Given the description of an element on the screen output the (x, y) to click on. 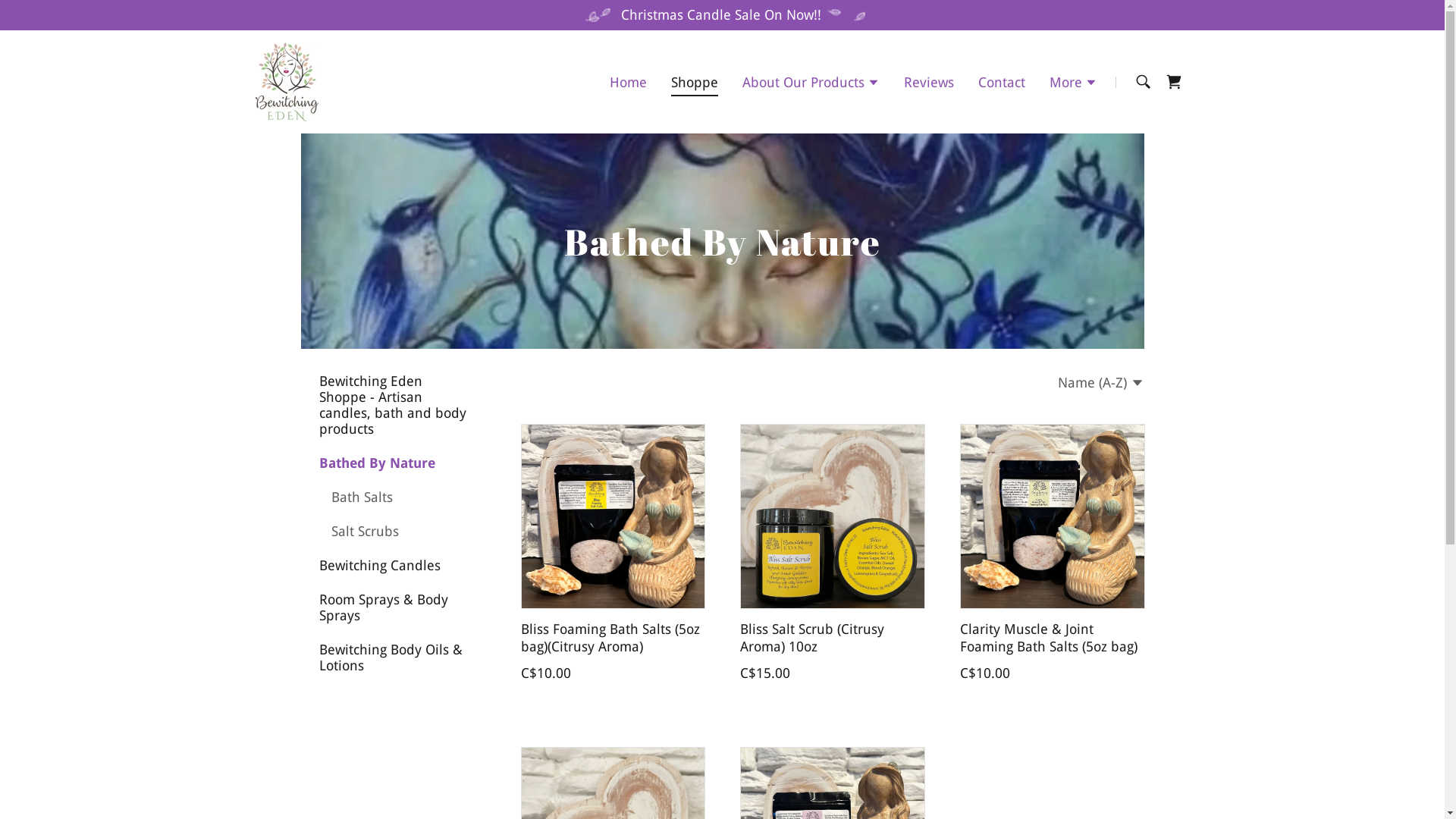
Bewitching Body Oils & Lotions Element type: text (391, 657)
Clarity Muscle & Joint Foaming Bath Salts (5oz bag)
C$10.00 Element type: text (1051, 554)
Bath Salts Element type: text (397, 497)
Home Element type: text (628, 81)
Shoppe Element type: text (694, 84)
Room Sprays & Body Sprays Element type: text (391, 607)
Bliss Salt Scrub (Citrusy Aroma) 10oz
C$15.00 Element type: text (831, 554)
Bewitching Candles Element type: text (391, 565)
Name (A-Z) Element type: text (1100, 381)
Bliss Foaming Bath Salts (5oz bag)(Citrusy Aroma)
C$10.00 Element type: text (611, 554)
Bewitching Eden  Element type: hover (285, 80)
Salt Scrubs Element type: text (397, 531)
Reviews Element type: text (928, 81)
About Our Products Element type: text (810, 83)
Bathed By Nature Element type: text (391, 462)
Contact Element type: text (1001, 81)
More Element type: text (1073, 83)
